Given the description of an element on the screen output the (x, y) to click on. 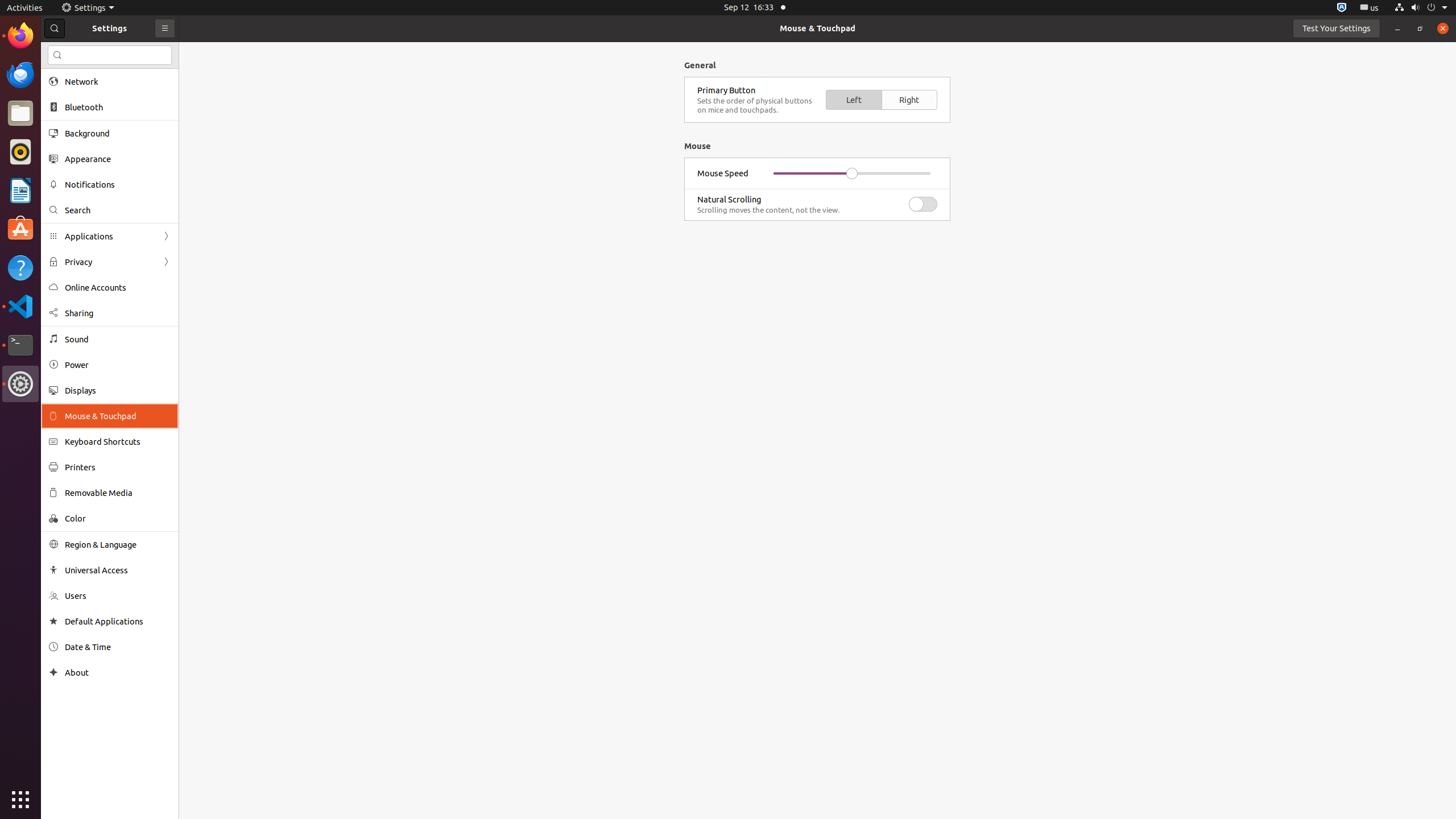
Sound Element type: label (117, 339)
Users Element type: label (117, 595)
Close Element type: push-button (1442, 27)
Power Element type: label (117, 364)
